Given the description of an element on the screen output the (x, y) to click on. 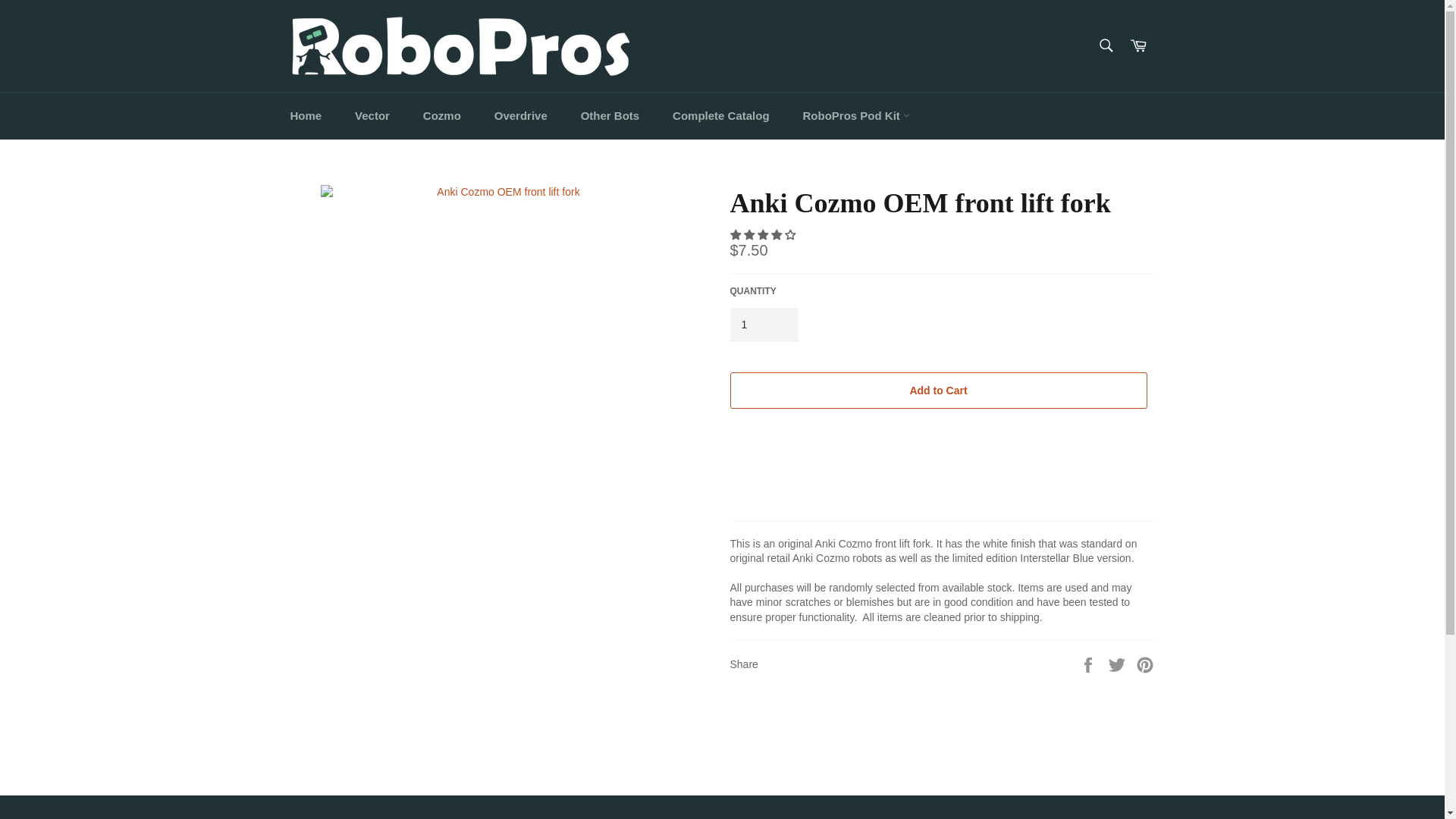
RoboPros Pod Kit (855, 116)
Overdrive (520, 116)
Home (305, 116)
Pin on Pinterest (1144, 664)
Add to Cart (938, 390)
1 (763, 324)
Search (1104, 44)
Complete Catalog (721, 116)
Vector (371, 116)
Tweet on Twitter (1118, 664)
Other Bots (610, 116)
Cart (1138, 45)
Share on Facebook (1089, 664)
Share on Facebook (1089, 664)
Tweet on Twitter (1118, 664)
